Given the description of an element on the screen output the (x, y) to click on. 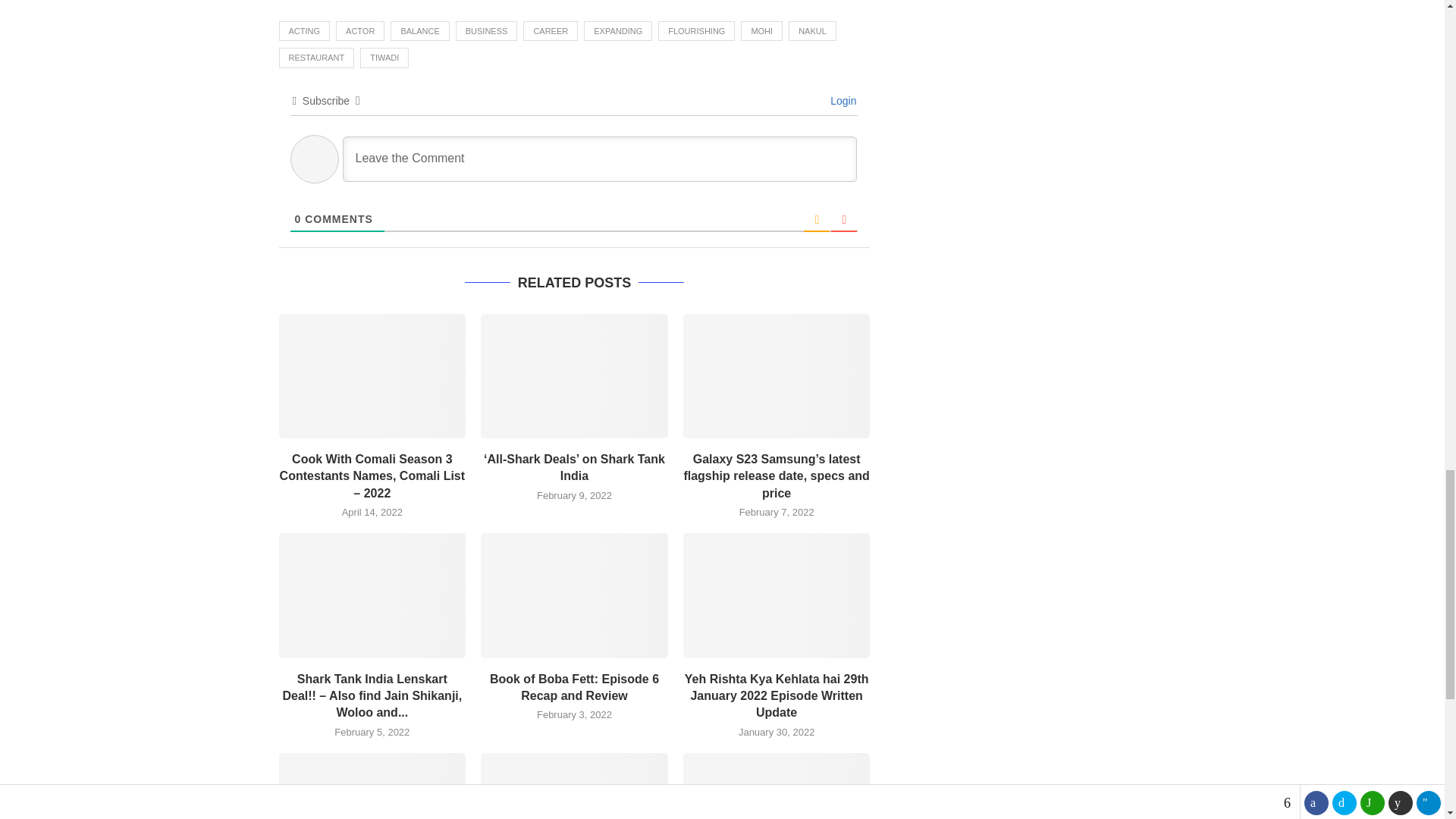
Book of Boba Fett: Episode 6 Recap and Review (574, 595)
Shark Tank India: PPE Ventilator and Insurance (776, 785)
